Given the description of an element on the screen output the (x, y) to click on. 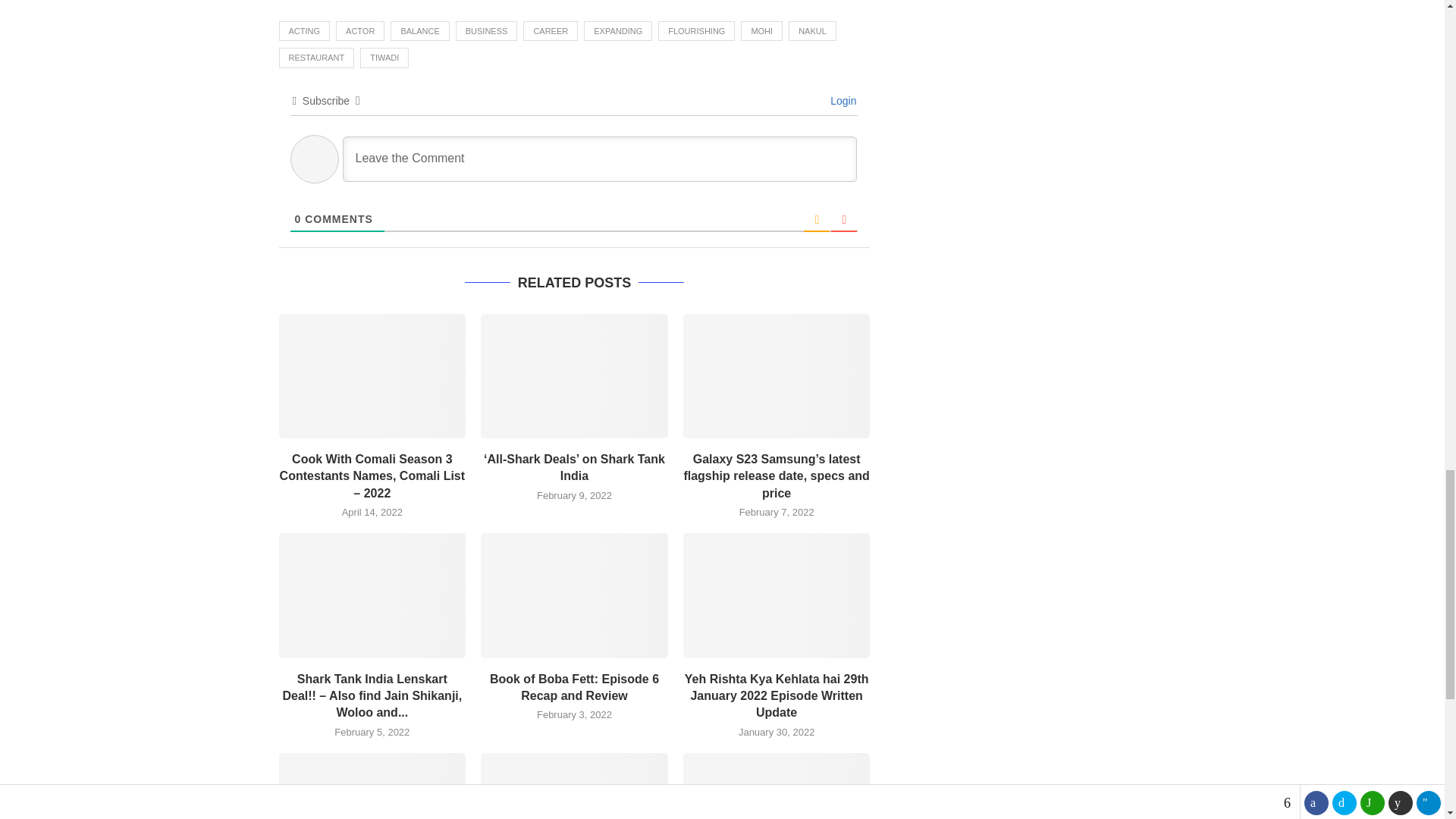
Book of Boba Fett: Episode 6 Recap and Review (574, 595)
Shark Tank India: PPE Ventilator and Insurance (776, 785)
